Given the description of an element on the screen output the (x, y) to click on. 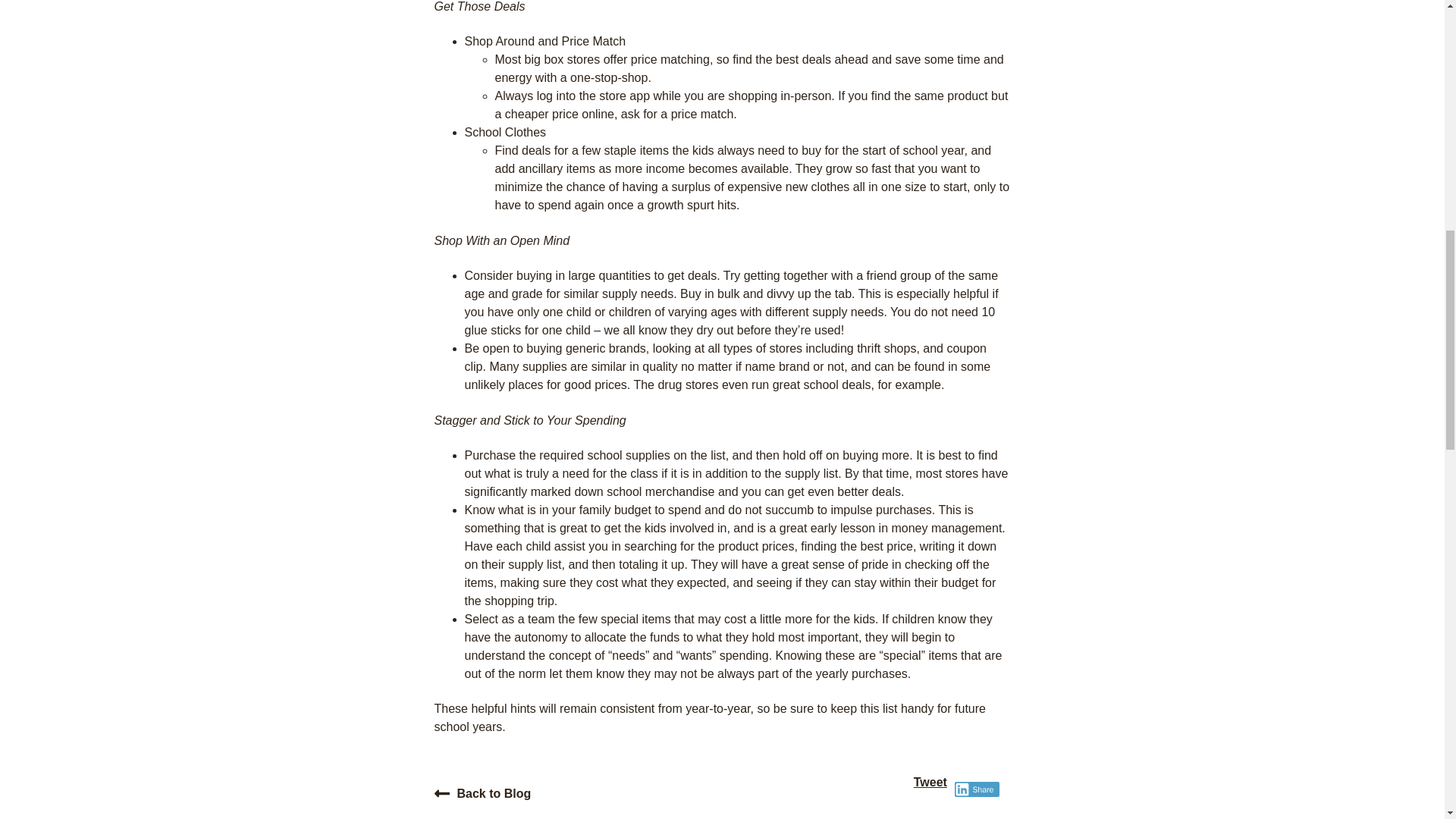
Share (976, 789)
Back to Blog (482, 793)
Tweet (930, 781)
